Given the description of an element on the screen output the (x, y) to click on. 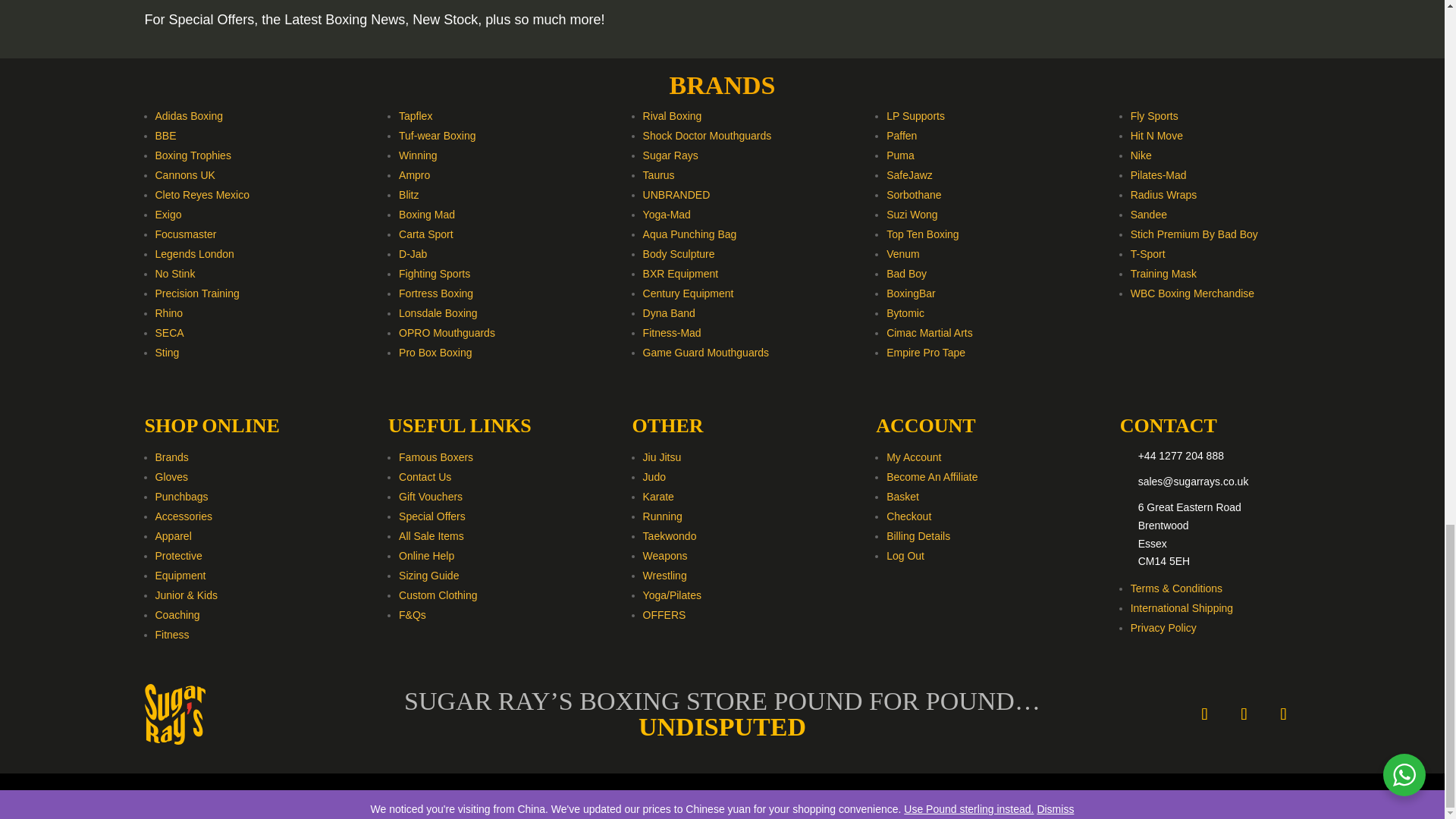
Adidas Boxing (188, 115)
Subscription form (1117, 11)
BBE (165, 135)
